Given the description of an element on the screen output the (x, y) to click on. 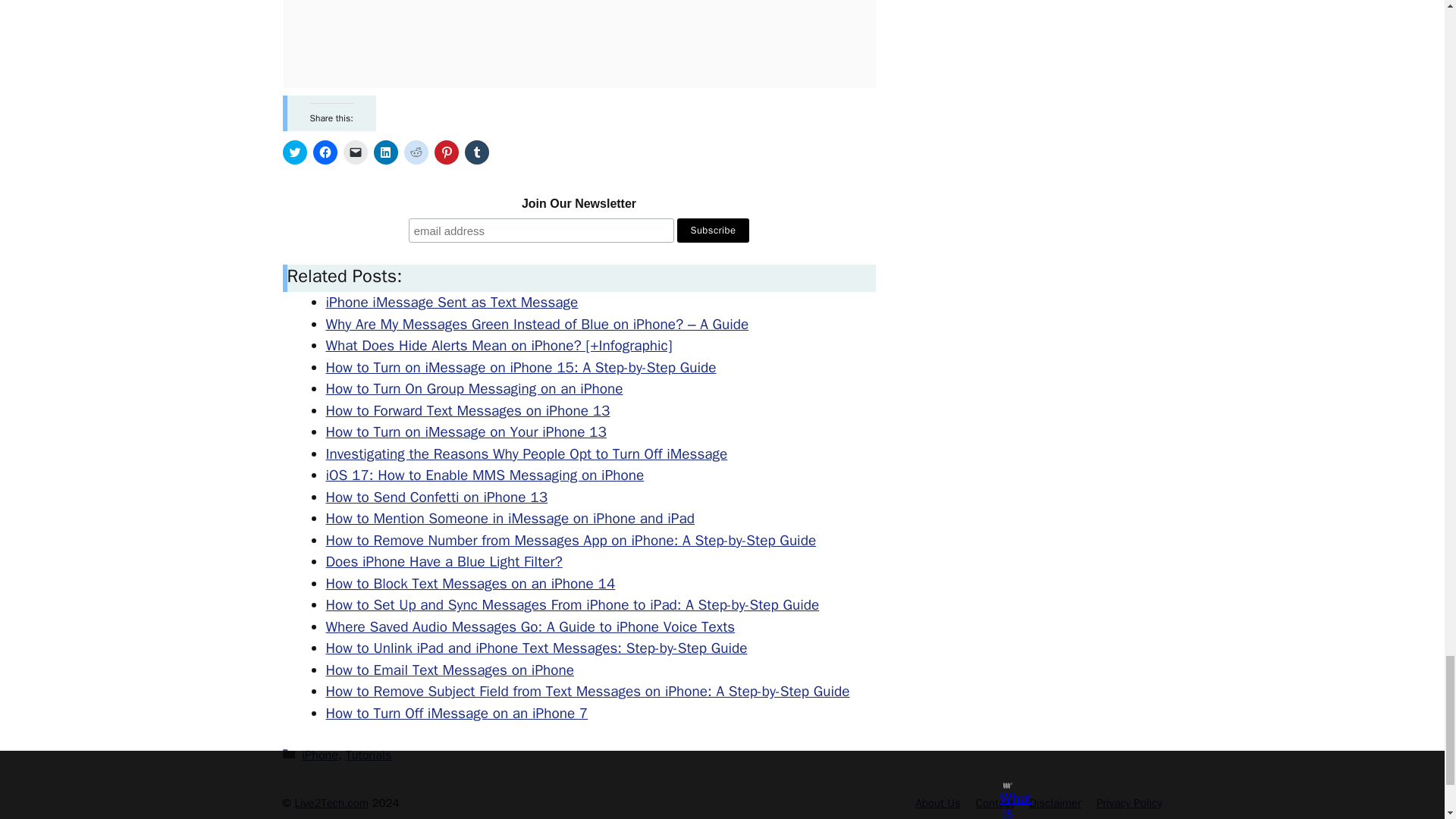
How to Turn Off iMessage on an iPhone 7 (457, 713)
How to Forward Text Messages on iPhone 13 (468, 411)
How to Turn on iMessage on iPhone 15: A Step-by-Step Guide (521, 367)
How to Mention Someone in iMessage on iPhone and iPad (510, 518)
Subscribe (713, 230)
How to Block Text Messages on an iPhone 14 (470, 583)
iPhone iMessage Sent as Text Message (452, 302)
How to Turn on iMessage on Your iPhone 13 (466, 432)
Does iPhone Have a Blue Light Filter? (444, 561)
How to Turn On Group Messaging on an iPhone (474, 389)
How to Email Text Messages on iPhone (450, 669)
